Given the description of an element on the screen output the (x, y) to click on. 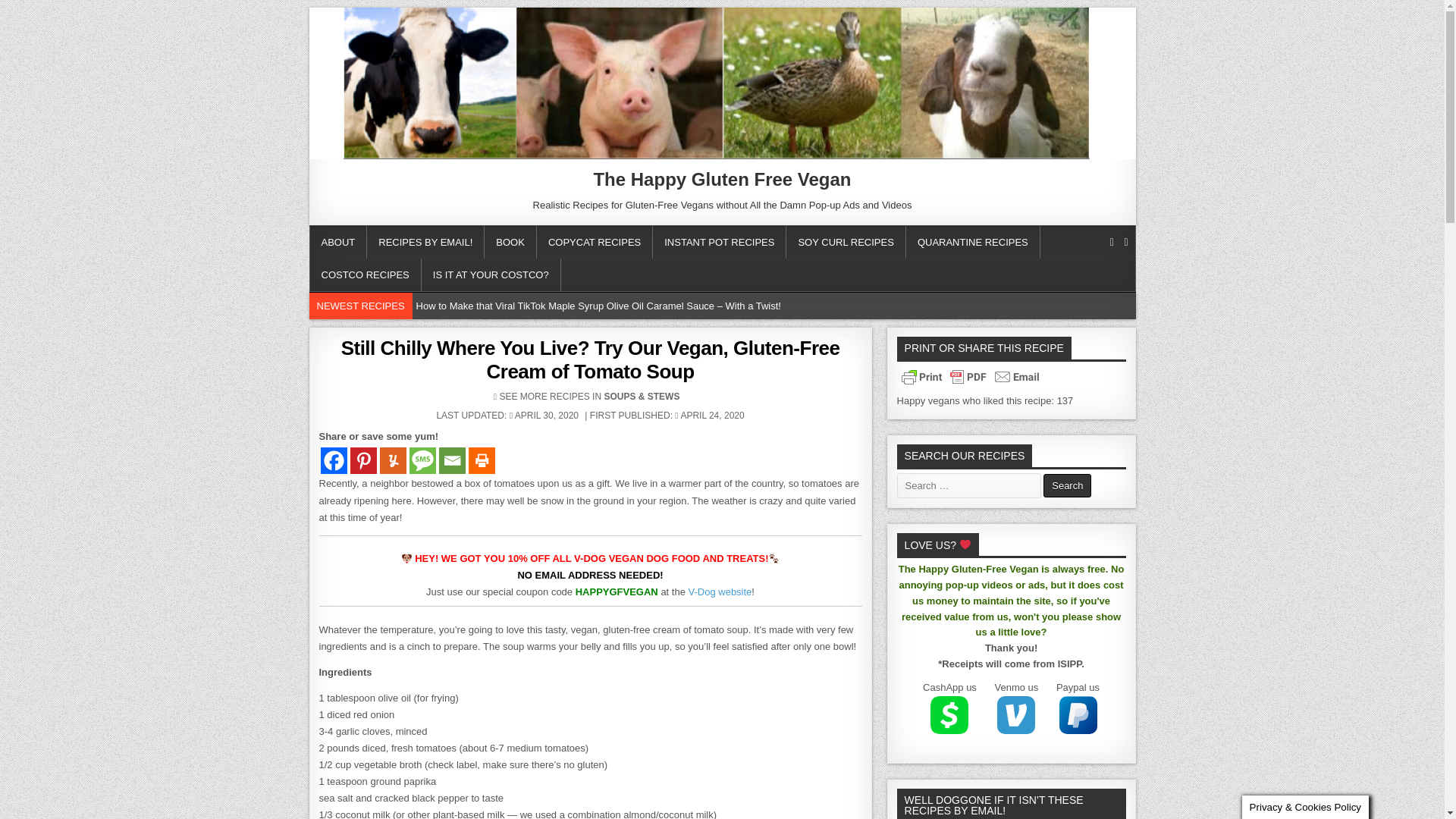
COSTCO RECIPES (364, 274)
Welcome to Our Community! (337, 242)
V-Dog website (720, 591)
IS IT AT YOUR COSTCO? (491, 274)
Recipes Containing Ingredients from Costco (364, 274)
INSTANT POT RECIPES (719, 242)
Facebook (333, 460)
Search (1066, 485)
Pinterest (363, 460)
RECIPES BY EMAIL! (425, 242)
BOOK (510, 242)
COPYCAT RECIPES (594, 242)
SOY CURL RECIPES (845, 242)
